Given the description of an element on the screen output the (x, y) to click on. 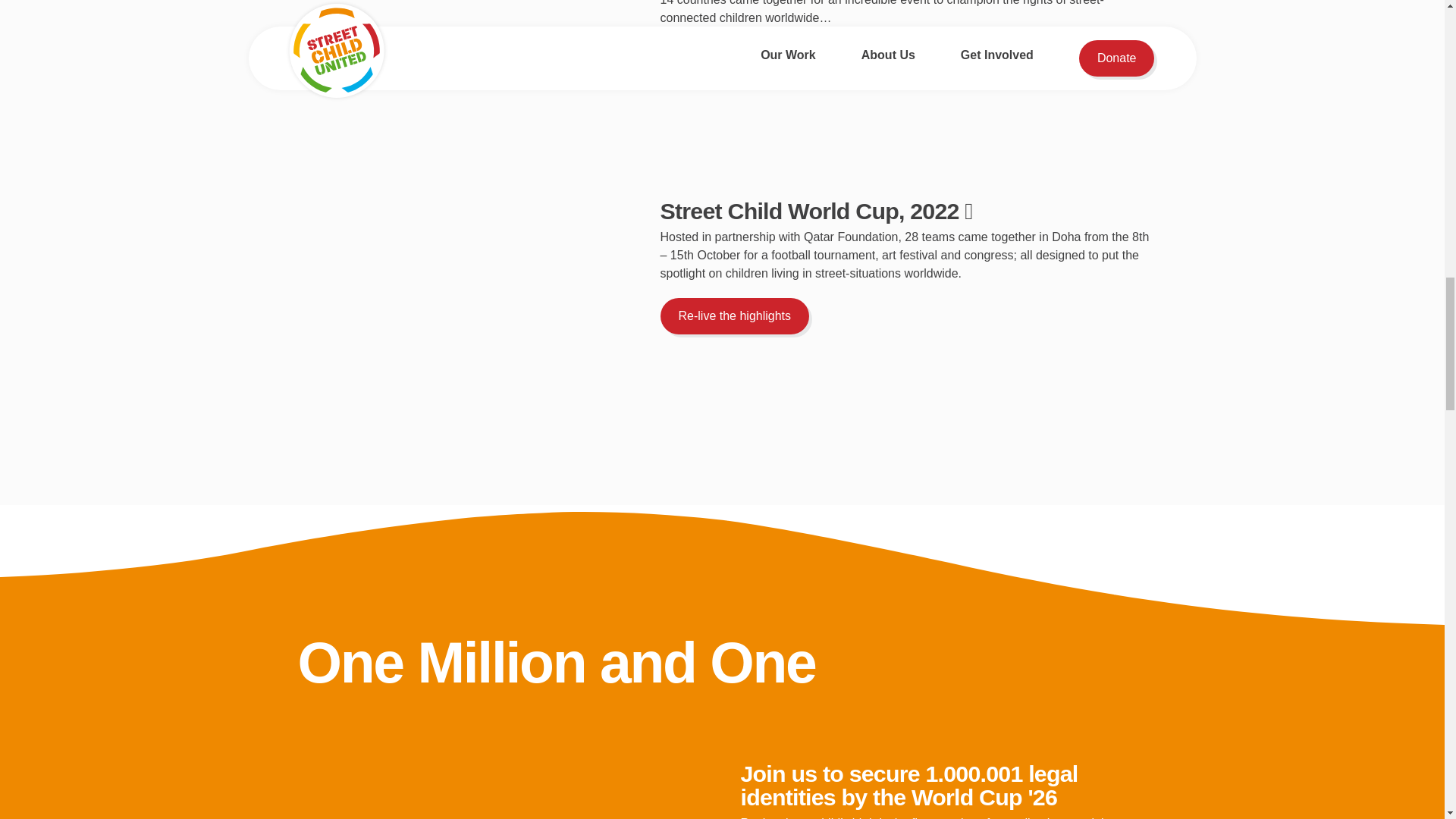
Who were crowned champions of the SCCWC 2023? (828, 67)
Re-live the highlights (734, 316)
